Given the description of an element on the screen output the (x, y) to click on. 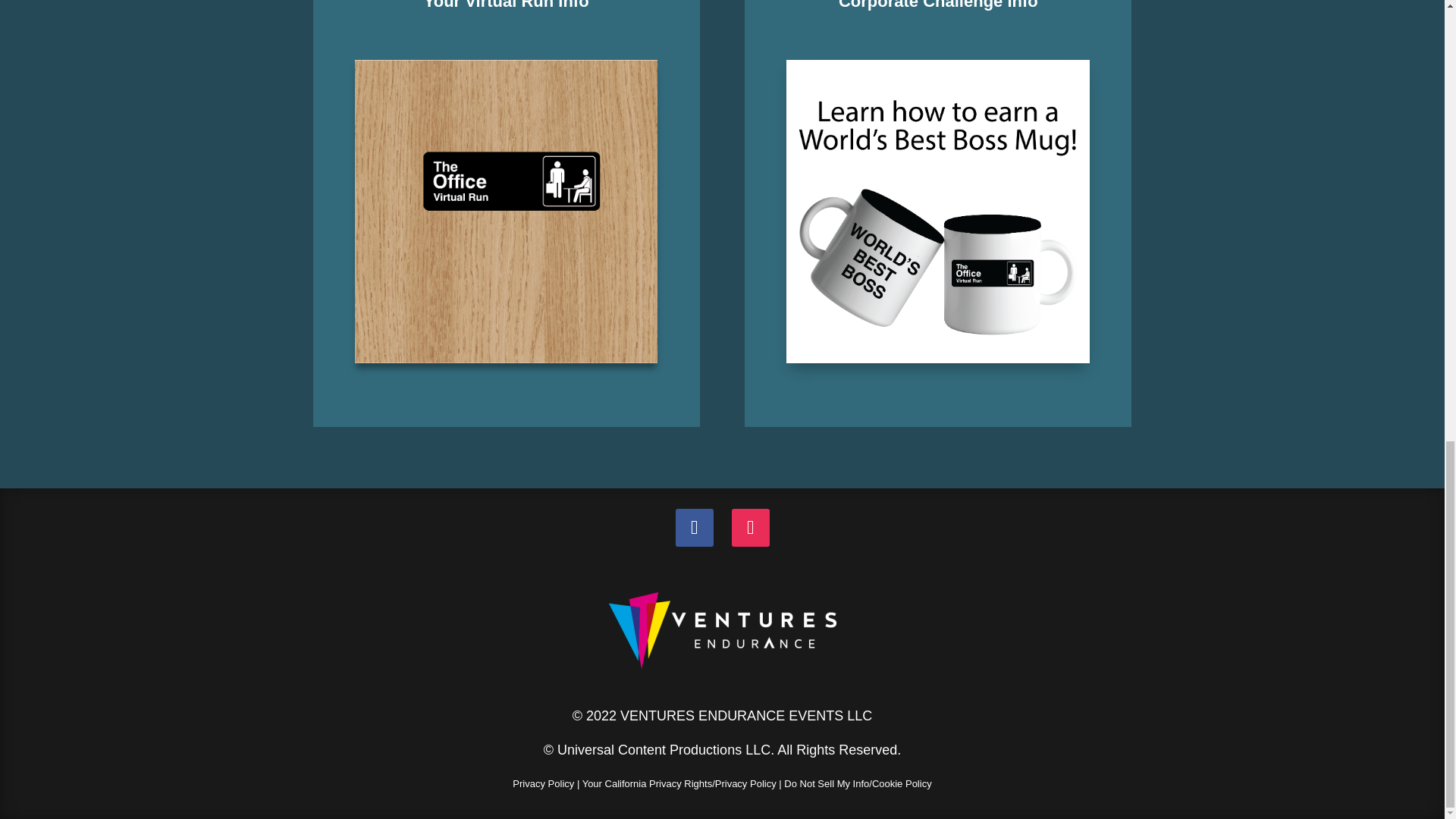
Privacy Policy (542, 783)
Follow on Instagram (749, 527)
Follow on Facebook (694, 527)
